Given the description of an element on the screen output the (x, y) to click on. 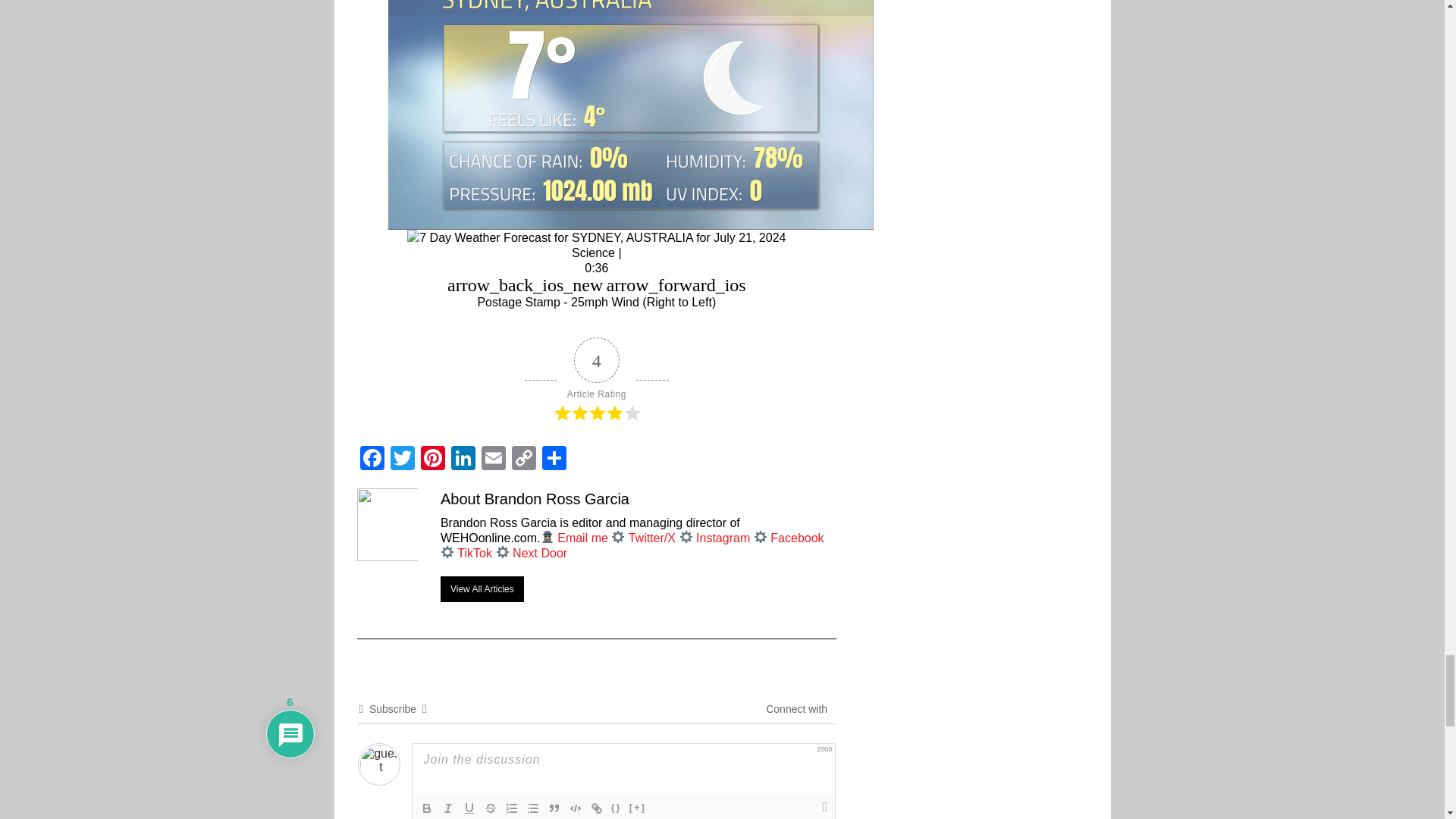
Twitter (401, 457)
Italic (447, 808)
Strike (489, 808)
Email (492, 457)
Instagram (722, 537)
LinkedIn (461, 457)
View All Articles (482, 588)
bullet (532, 808)
Bold (425, 808)
Email (492, 457)
Twitter (401, 457)
Underline (468, 808)
Pinterest (431, 457)
Next Door (539, 553)
Pinterest (431, 457)
